Given the description of an element on the screen output the (x, y) to click on. 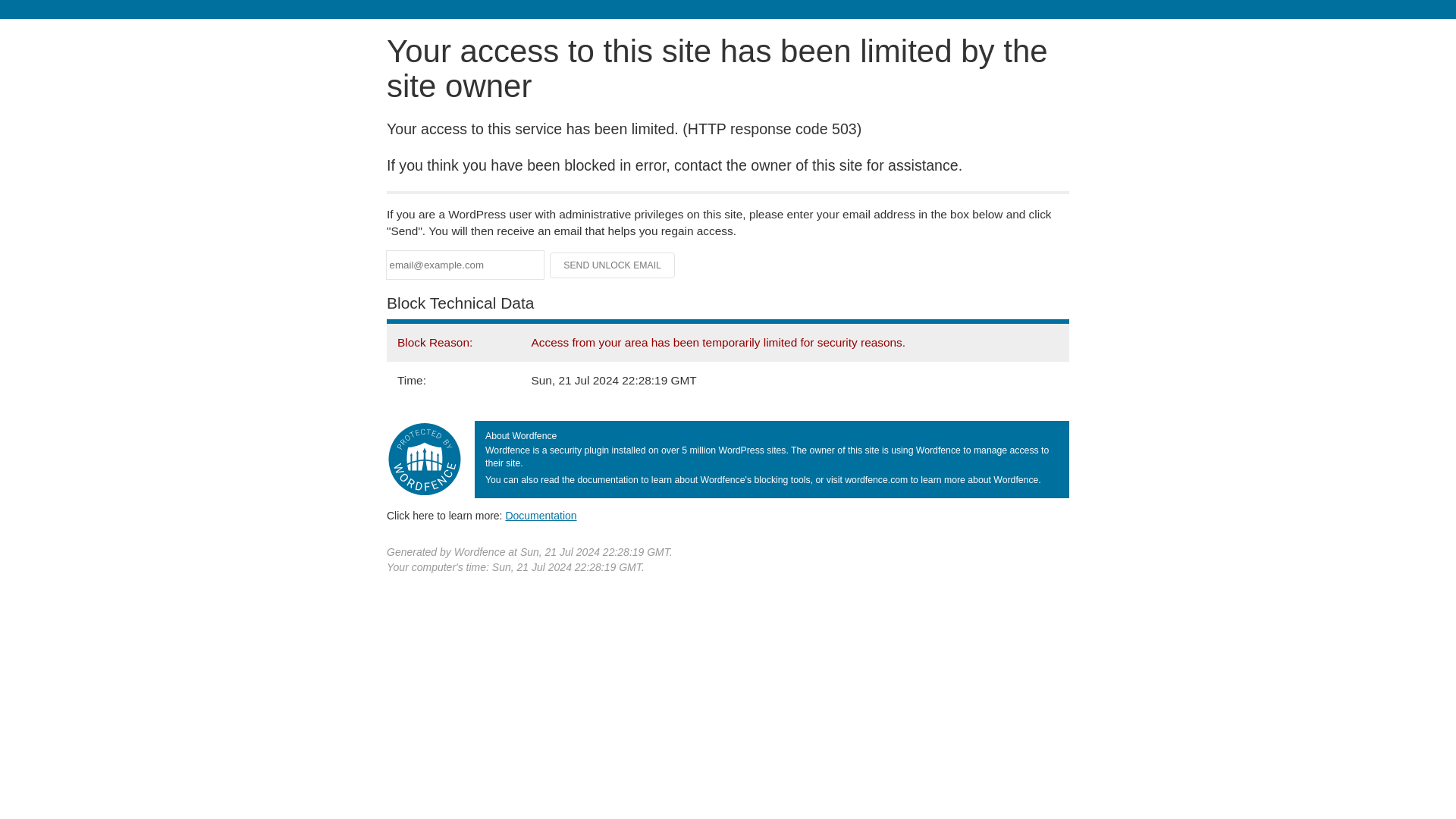
Send Unlock Email (612, 265)
Send Unlock Email (612, 265)
Documentation (540, 515)
